Given the description of an element on the screen output the (x, y) to click on. 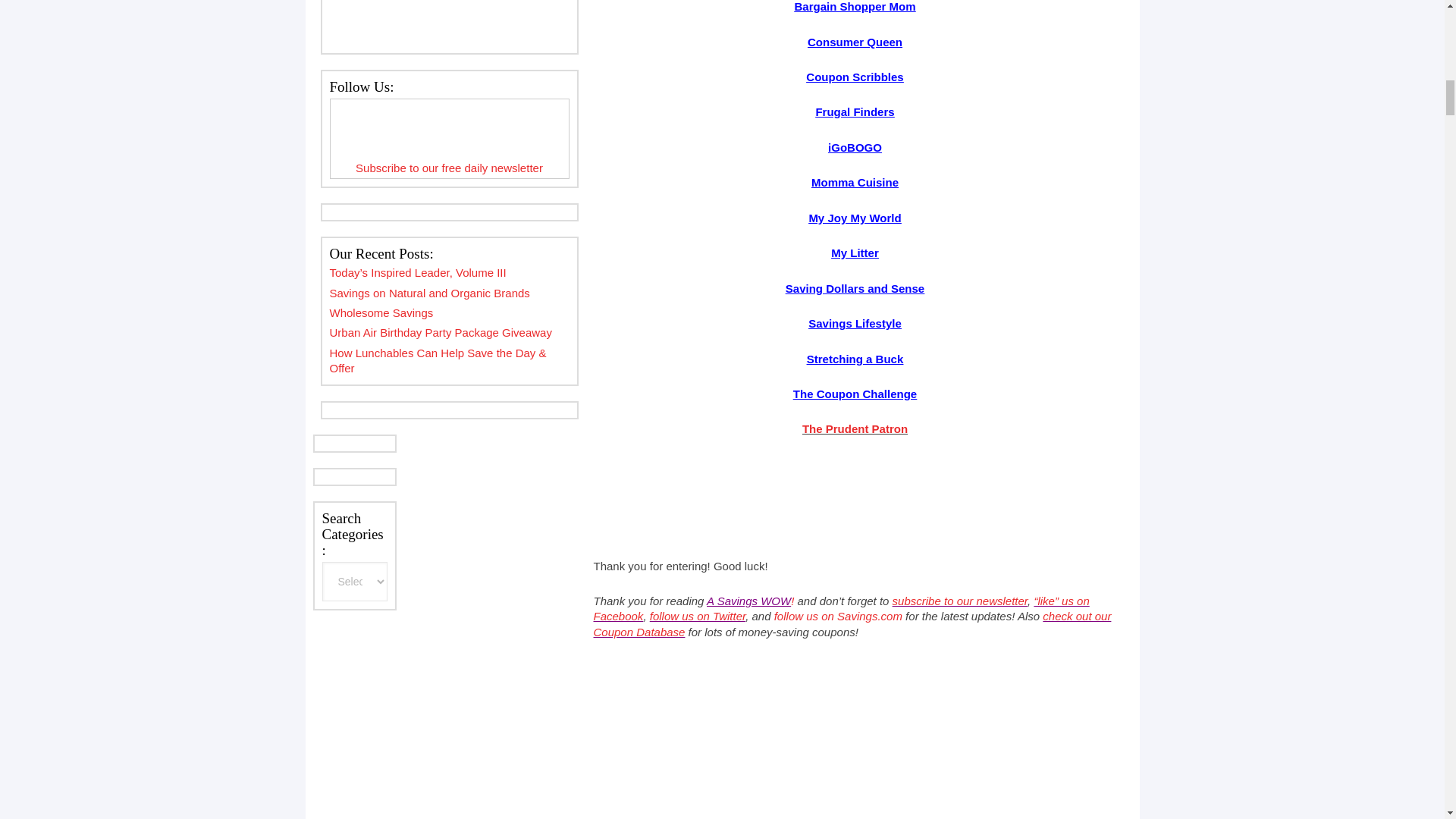
Bargain Shopper Mom (854, 6)
Frugal Finders (854, 111)
Momma Cuisine (854, 182)
Coupon Scribbles (854, 76)
iGoBOGO (855, 146)
Consumer Queen (855, 42)
My Joy My World (854, 217)
My Litter (855, 252)
